Given the description of an element on the screen output the (x, y) to click on. 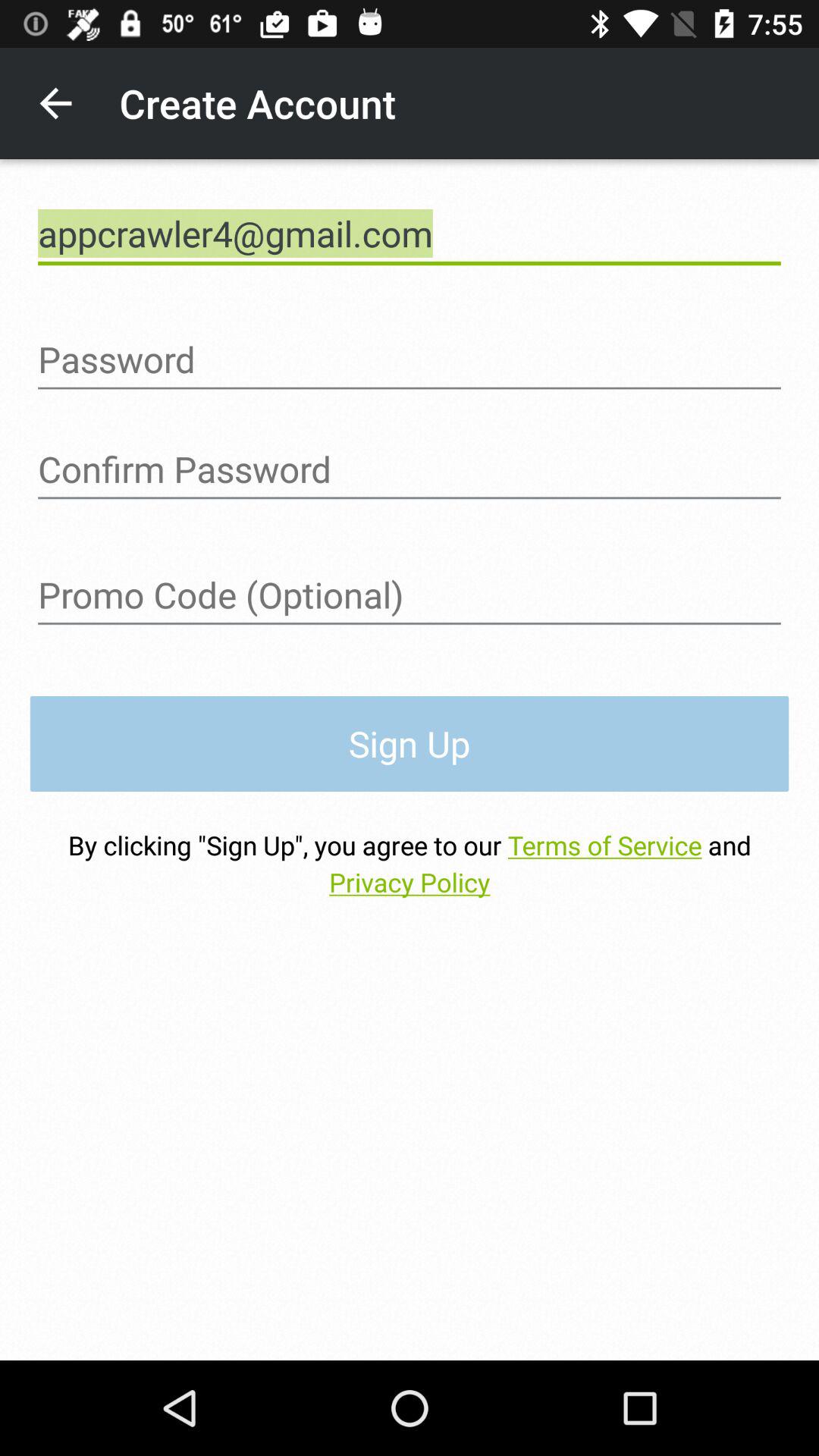
click on confirm password (409, 469)
